Given the description of an element on the screen output the (x, y) to click on. 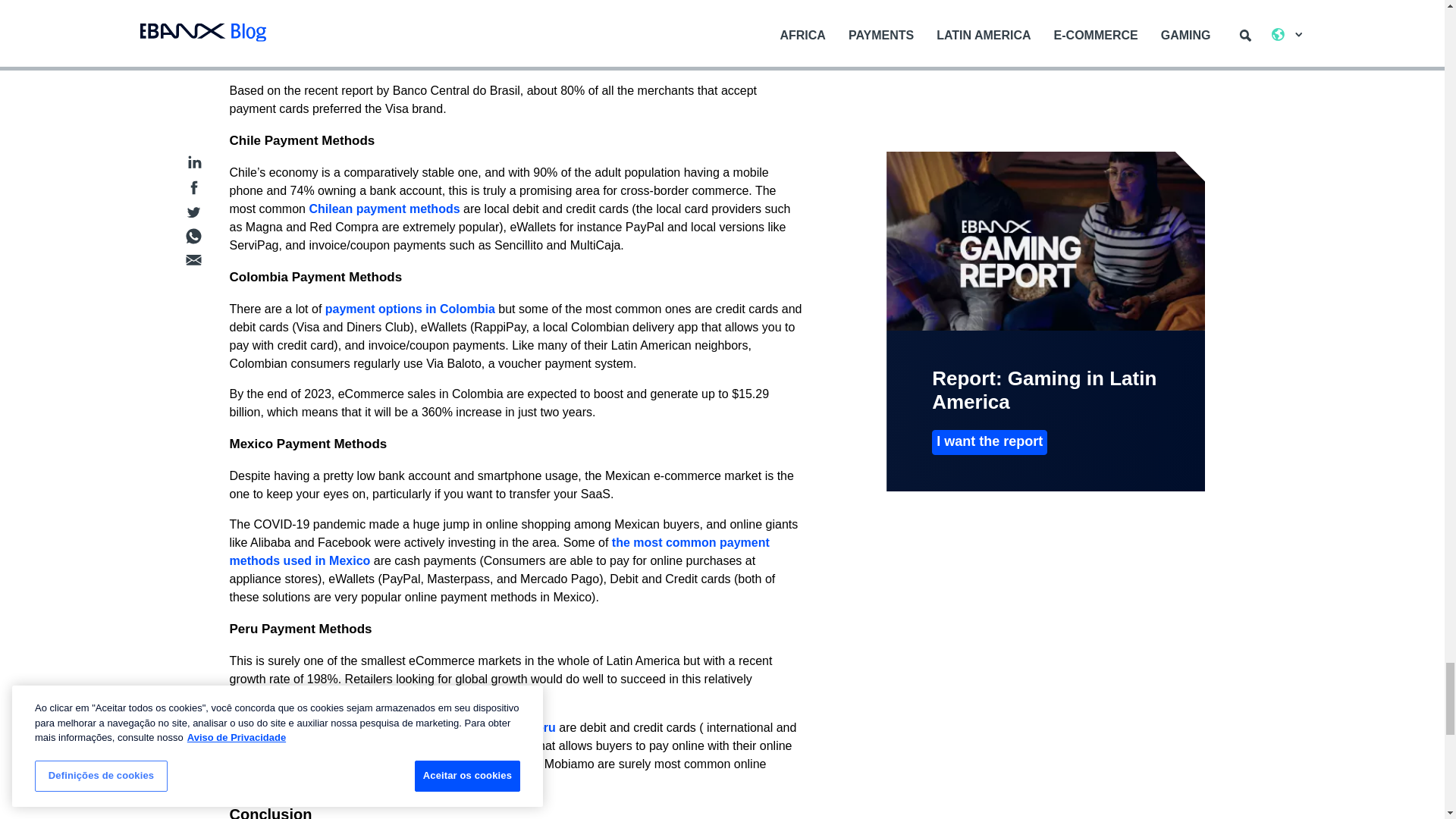
the best payment methods you can offer in Peru (417, 727)
payment options in Colombia (409, 308)
payment methods in Brazil (615, 6)
Chilean payment methods (384, 208)
the most common payment methods used in Mexico (498, 551)
